Given the description of an element on the screen output the (x, y) to click on. 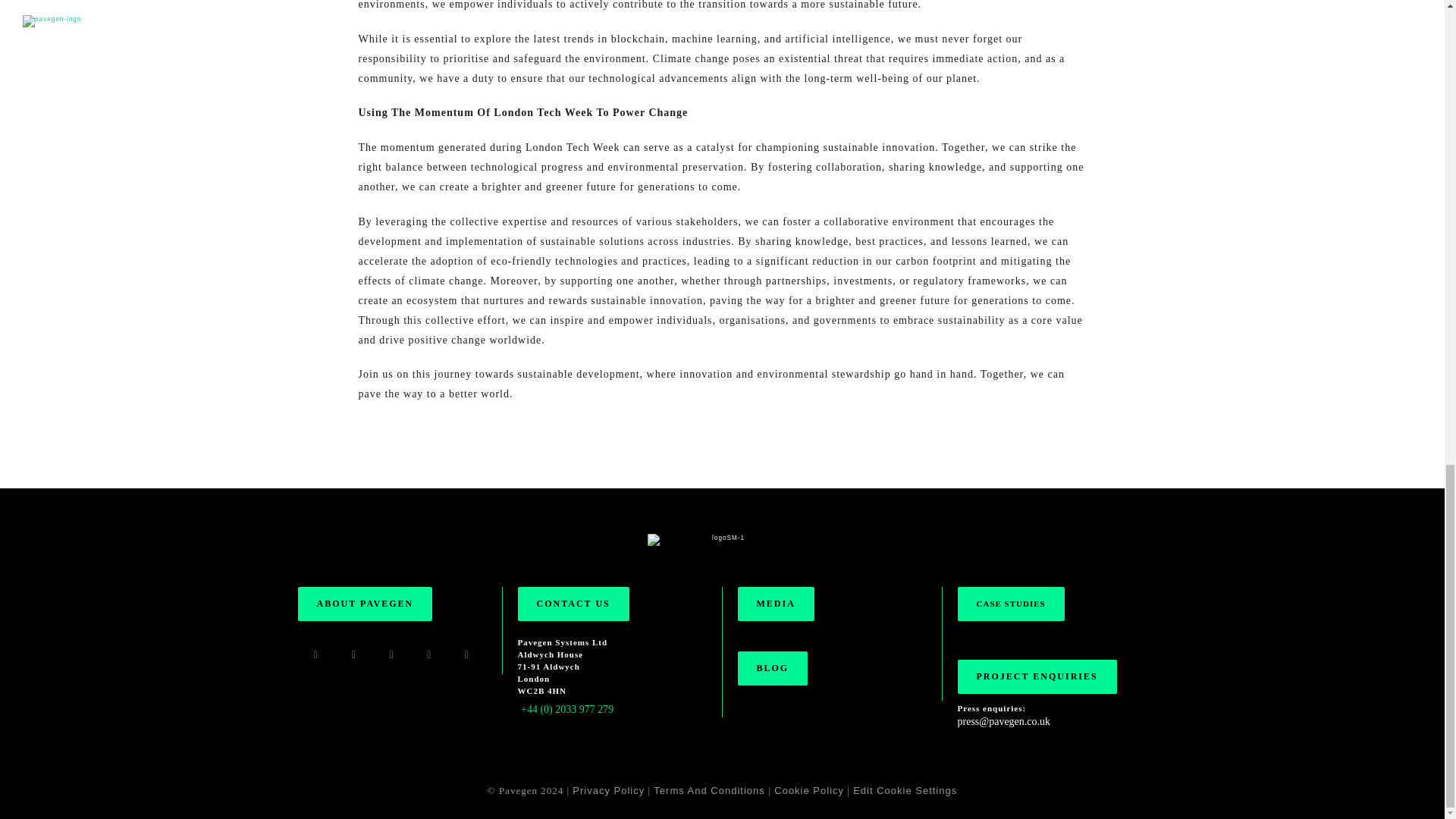
PROJECT ENQUIRIES (1036, 676)
CASE STUDIES (1010, 603)
CONTACT US (572, 603)
MEDIA (774, 603)
BLOG (772, 668)
ABOUT PAVEGEN (364, 603)
